Given the description of an element on the screen output the (x, y) to click on. 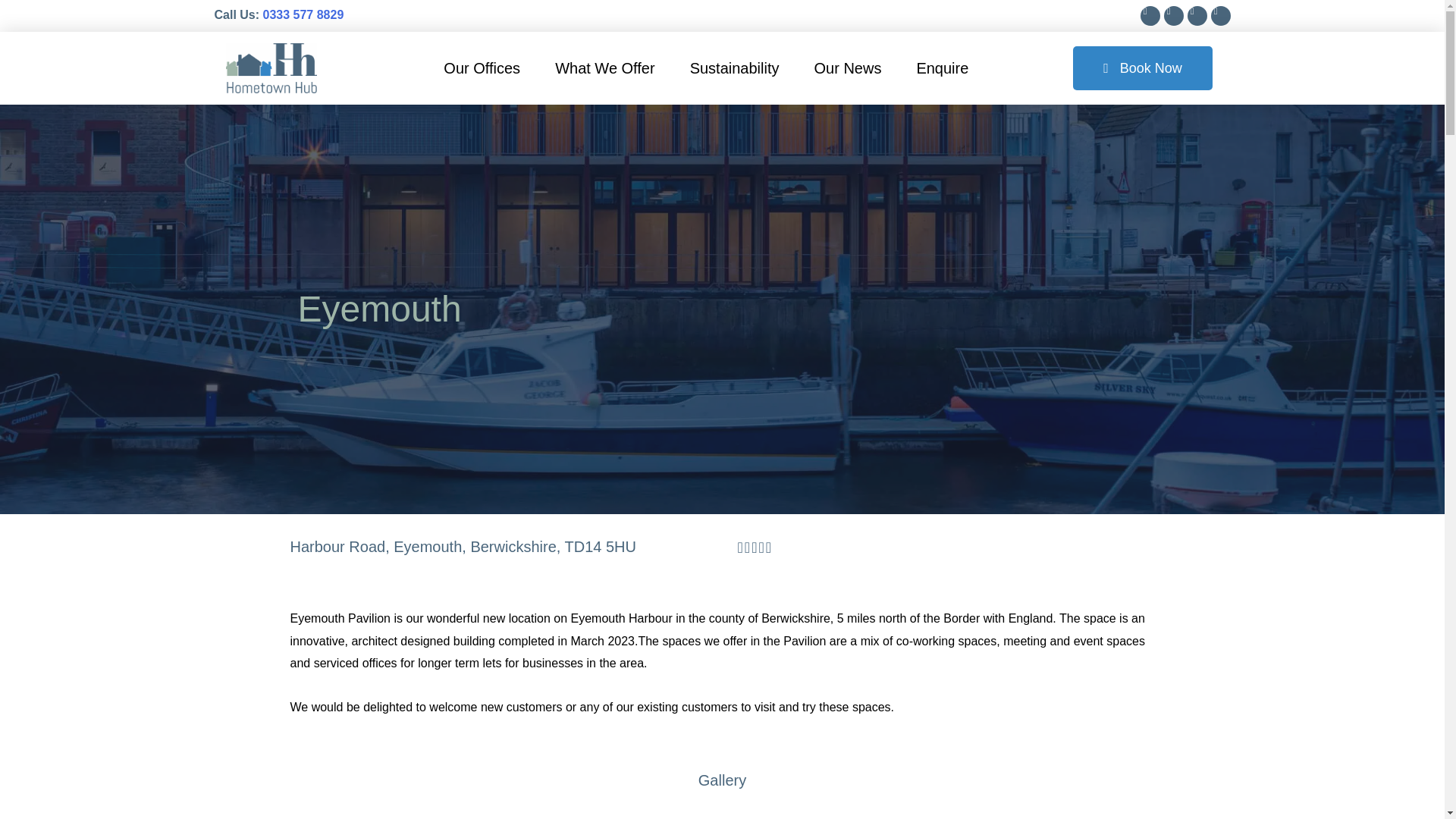
Sustainability (734, 67)
Enquire (942, 67)
Linkedin (1219, 15)
What We Offer (604, 67)
Twitter (1197, 15)
Envelope (1150, 15)
Our Offices (481, 67)
Book Now (1142, 67)
Our News (847, 67)
0333 577 8829 (303, 14)
Facebook (1172, 15)
